Given the description of an element on the screen output the (x, y) to click on. 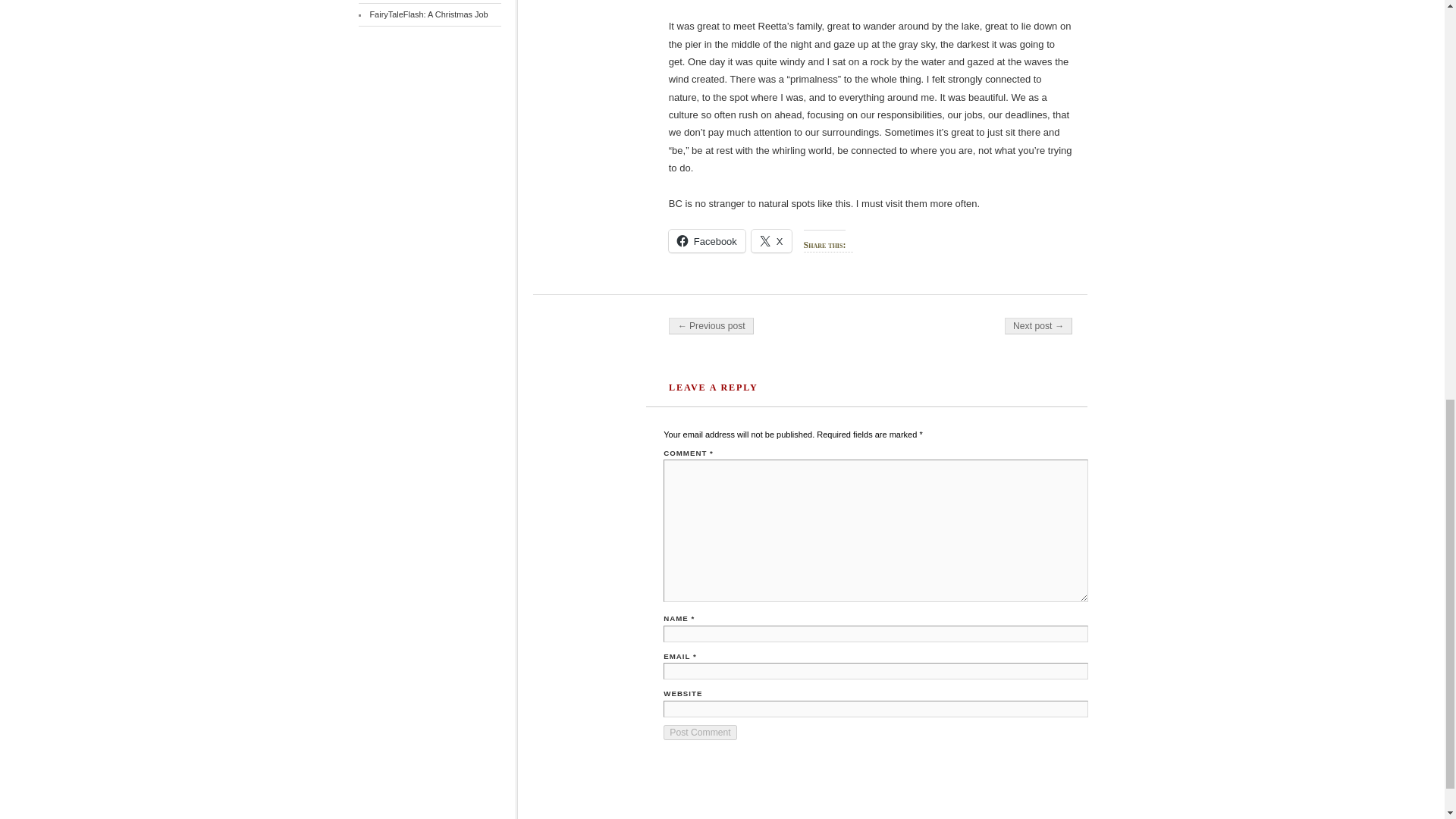
Click to share on Facebook (706, 241)
X (771, 241)
FairyTaleFlash: A Christmas Job (428, 13)
Click to share on X (771, 241)
Post Comment (699, 732)
Facebook (706, 241)
Post Comment (699, 732)
